Given the description of an element on the screen output the (x, y) to click on. 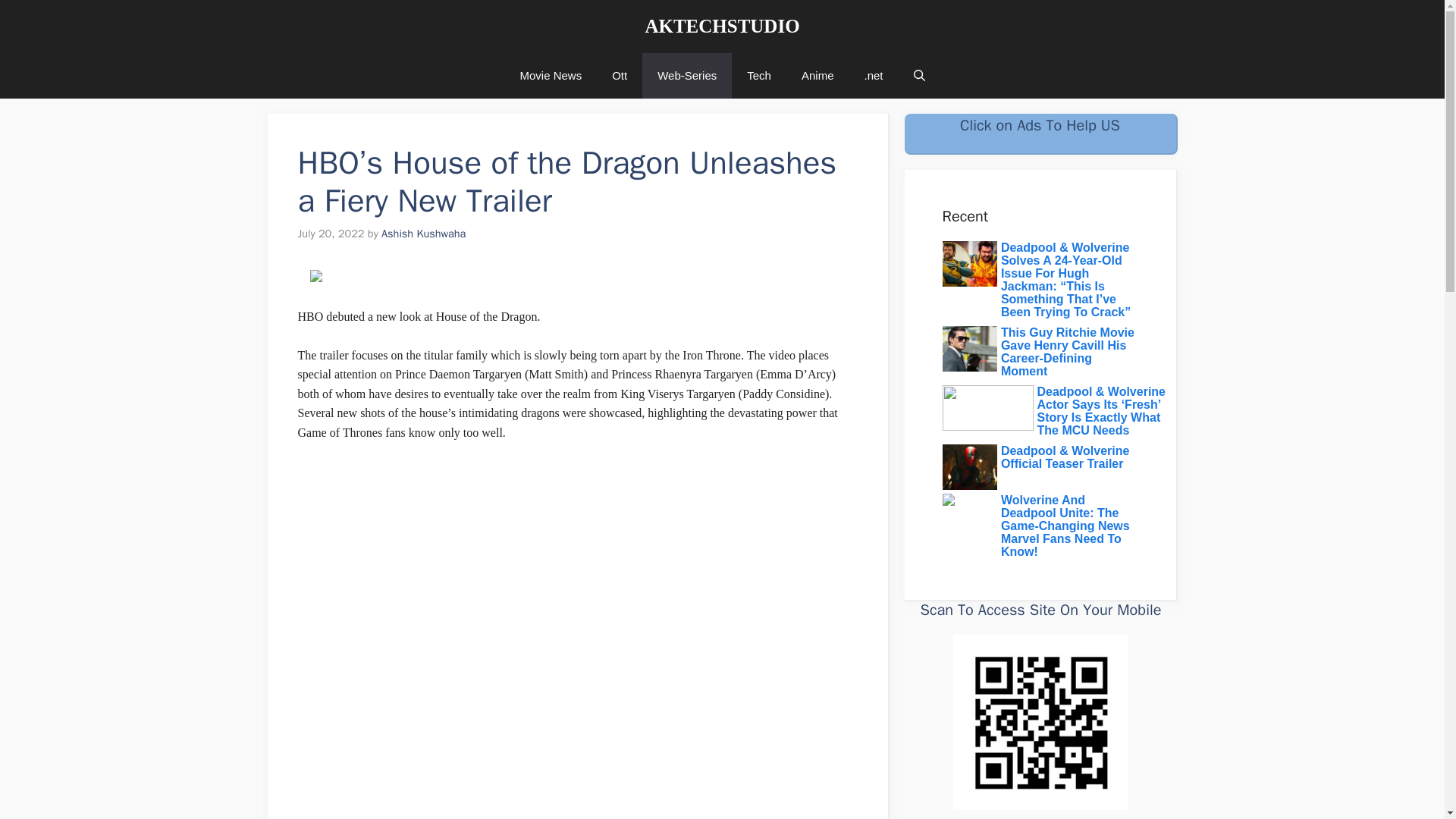
Tech (759, 75)
Ashish Kushwaha (423, 233)
View all posts by Ashish Kushwaha (423, 233)
.net (873, 75)
Anime (817, 75)
Web-Series (687, 75)
Movie News (549, 75)
Ott (619, 75)
AKTECHSTUDIO (722, 25)
